Given the description of an element on the screen output the (x, y) to click on. 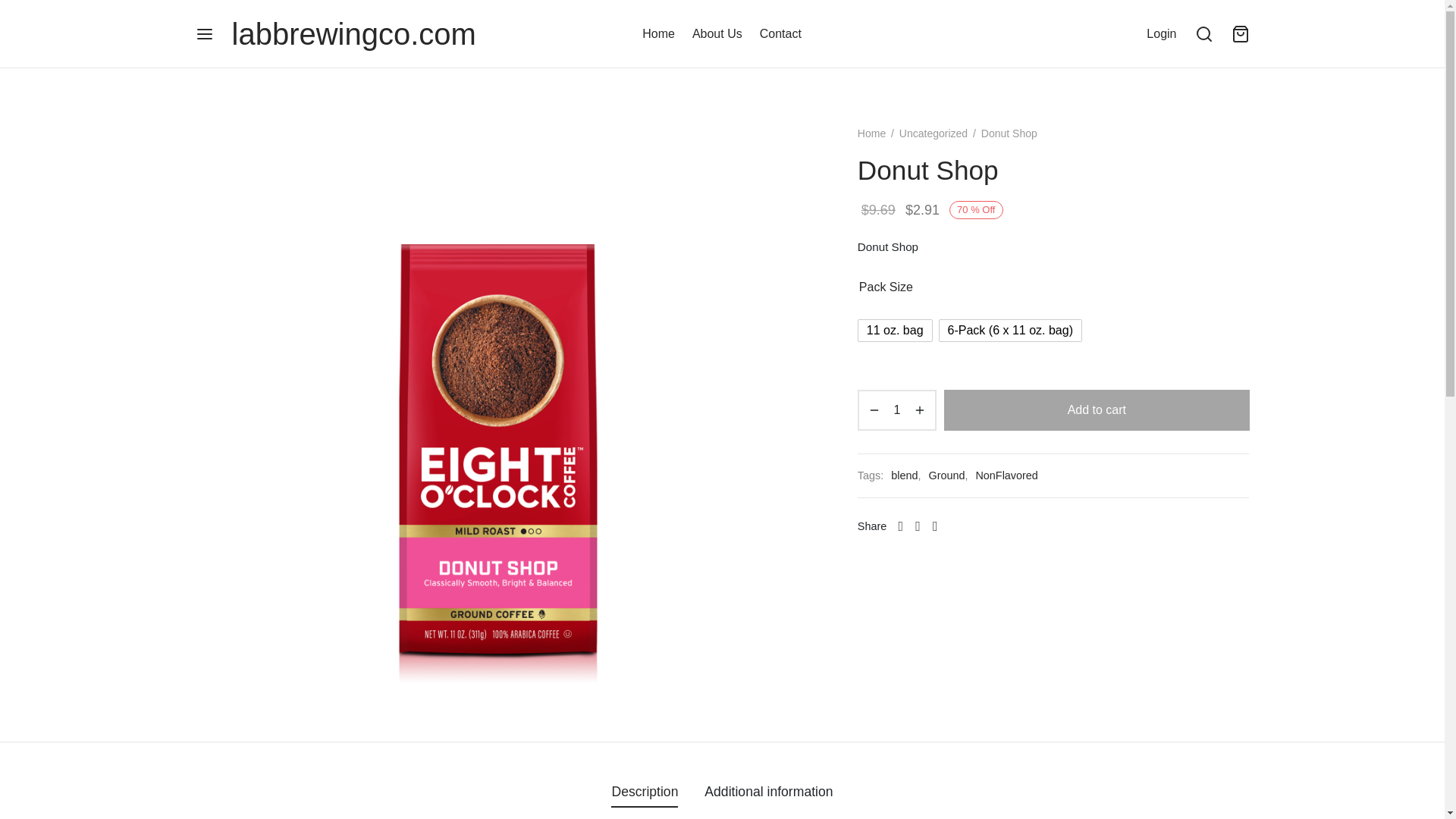
labbrewingco.com (353, 33)
NonFlavored (1005, 476)
Description (644, 791)
1 (896, 410)
Ground (945, 476)
Contact (781, 34)
Add to cart (1096, 409)
11 oz. bag (895, 330)
Login (1161, 33)
Uncategorized (933, 133)
Cart (1240, 34)
Additional information (768, 791)
Home (658, 34)
About Us (717, 34)
blend (904, 476)
